Given the description of an element on the screen output the (x, y) to click on. 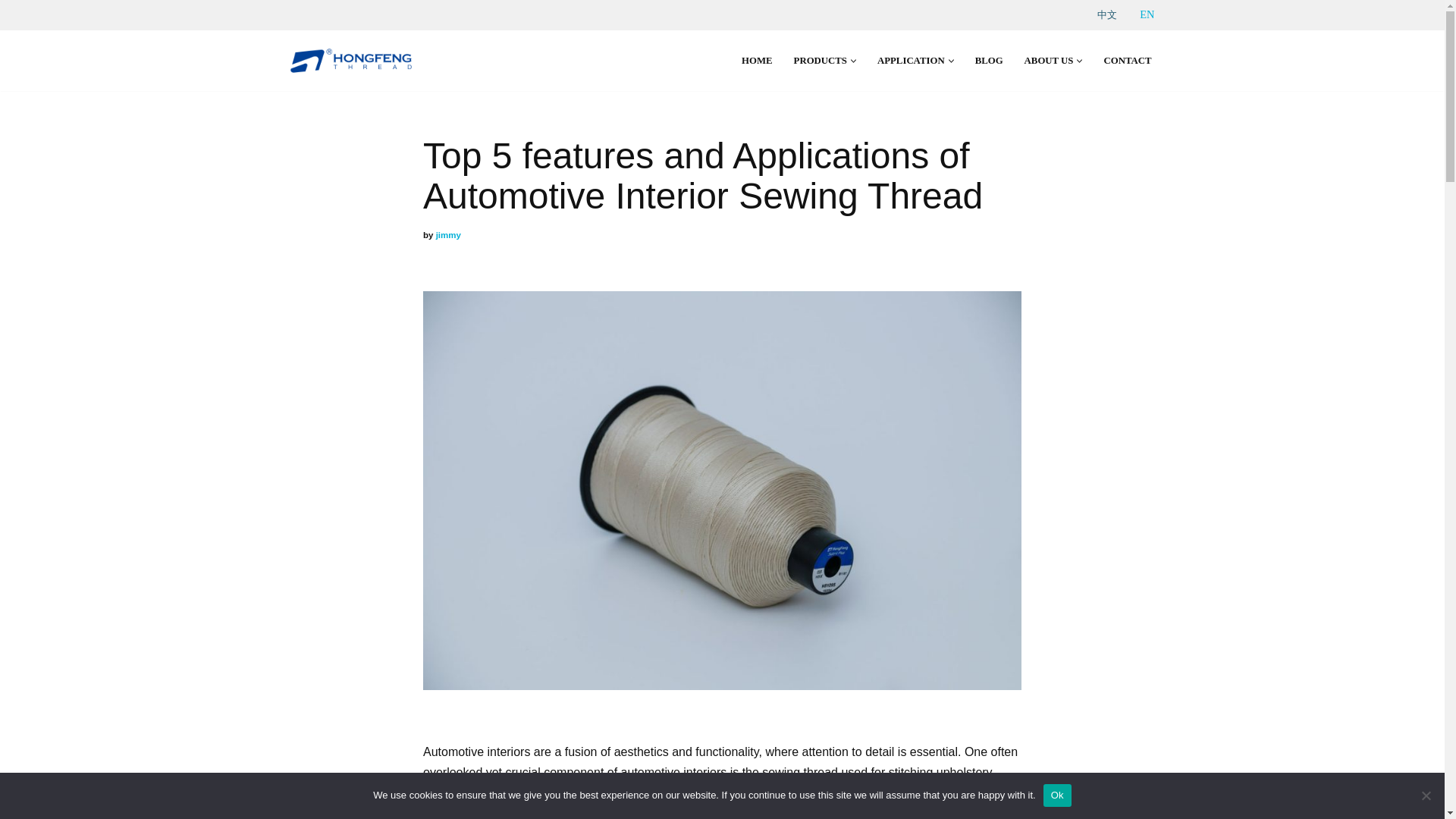
APPLICATION (910, 60)
EN (1147, 14)
PRODUCTS (820, 60)
CONTACT (1127, 60)
BLOG (989, 60)
ABOUT US (1049, 60)
HOME (757, 60)
Skip to content (11, 31)
Posts by jimmy (448, 234)
